Given the description of an element on the screen output the (x, y) to click on. 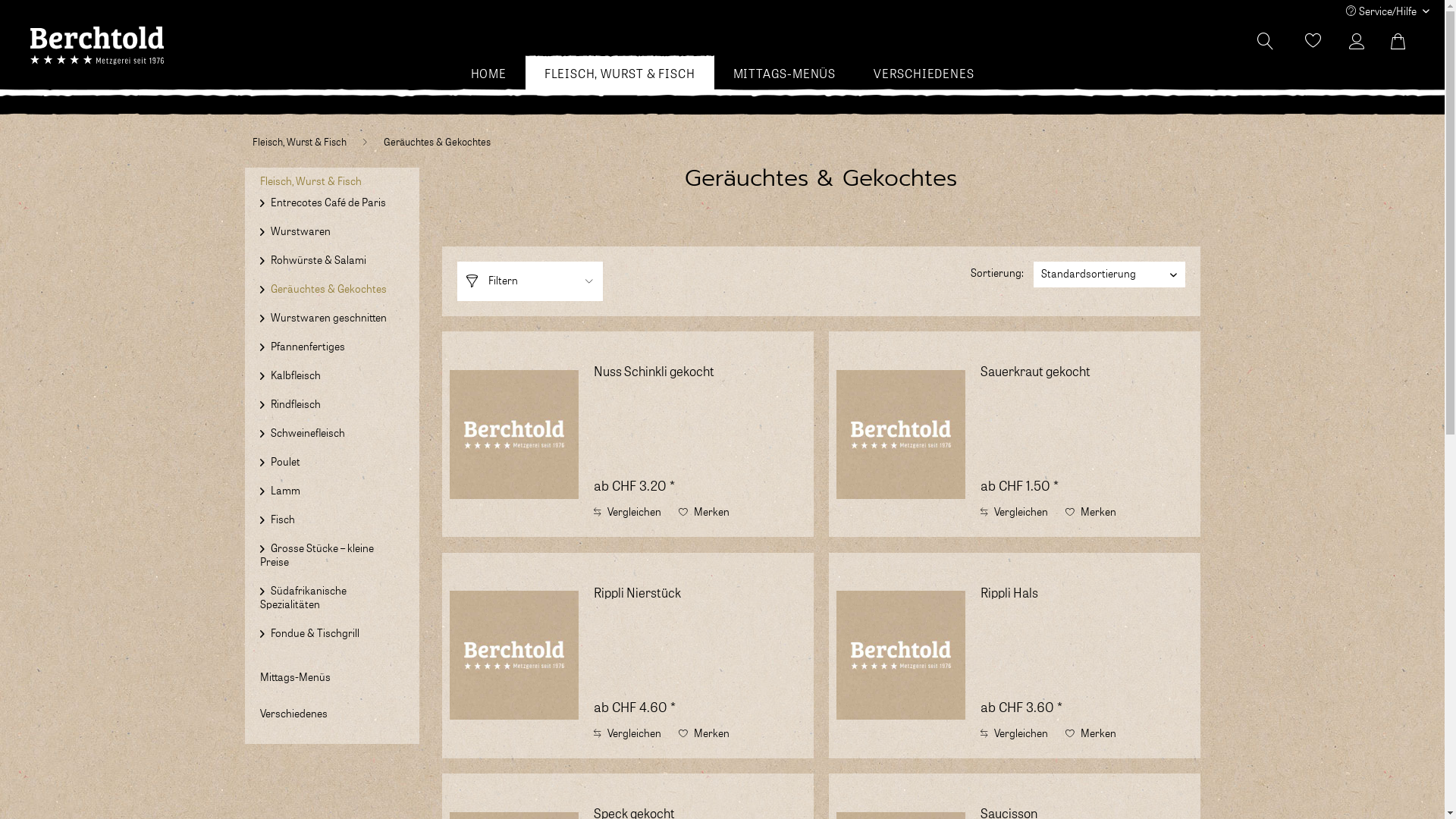
Rindfleisch Element type: text (295, 404)
Merken Element type: text (703, 733)
Rippli Hals Element type: text (1086, 601)
Mein Konto Element type: hover (1360, 41)
Inhalt Element type: hover (699, 690)
Wurstwaren geschnitten Element type: text (328, 318)
Merken Element type: text (1090, 733)
Sauerkraut gekocht Element type: hover (900, 434)
Warenkorb Element type: hover (1406, 41)
Nuss Schinkli gekocht Element type: text (699, 380)
Vergleichen Element type: text (1014, 512)
Nuss Schinkli gekocht Element type: hover (513, 434)
Vergleichen Element type: text (627, 733)
Vergleichen Element type: text (1014, 733)
Schweinefleisch Element type: text (307, 433)
Vergleichen Element type: text (627, 512)
Fondue & Tischgrill Element type: text (314, 633)
Berchtold Metzgerei - zur Startseite wechseln Element type: hover (96, 45)
Fleisch, Wurst & Fisch Element type: text (298, 143)
Verschiedenes Element type: text (292, 714)
Rippli Hals Element type: hover (900, 654)
VERSCHIEDENES Element type: text (923, 74)
FLEISCH, WURST & FISCH Element type: text (619, 74)
Inhalt Element type: hover (699, 468)
Inhalt Element type: hover (1086, 468)
Merkzettel Element type: hover (1312, 41)
Fleisch, Wurst & Fisch Element type: text (309, 181)
Sauerkraut gekocht Element type: hover (900, 433)
Merken Element type: text (1090, 512)
Wurstwaren Element type: text (300, 231)
Kalbfleisch Element type: text (295, 376)
Poulet Element type: text (285, 462)
Fisch Element type: text (282, 520)
Pfannenfertiges Element type: text (307, 347)
Nuss Schinkli gekocht Element type: hover (513, 433)
Inhalt Element type: hover (1086, 690)
Sauerkraut gekocht Element type: text (1086, 380)
Lamm Element type: text (285, 491)
Rippli Hals Element type: hover (900, 655)
HOME Element type: text (488, 74)
Merken Element type: text (703, 512)
Filtern Element type: text (529, 281)
